Given the description of an element on the screen output the (x, y) to click on. 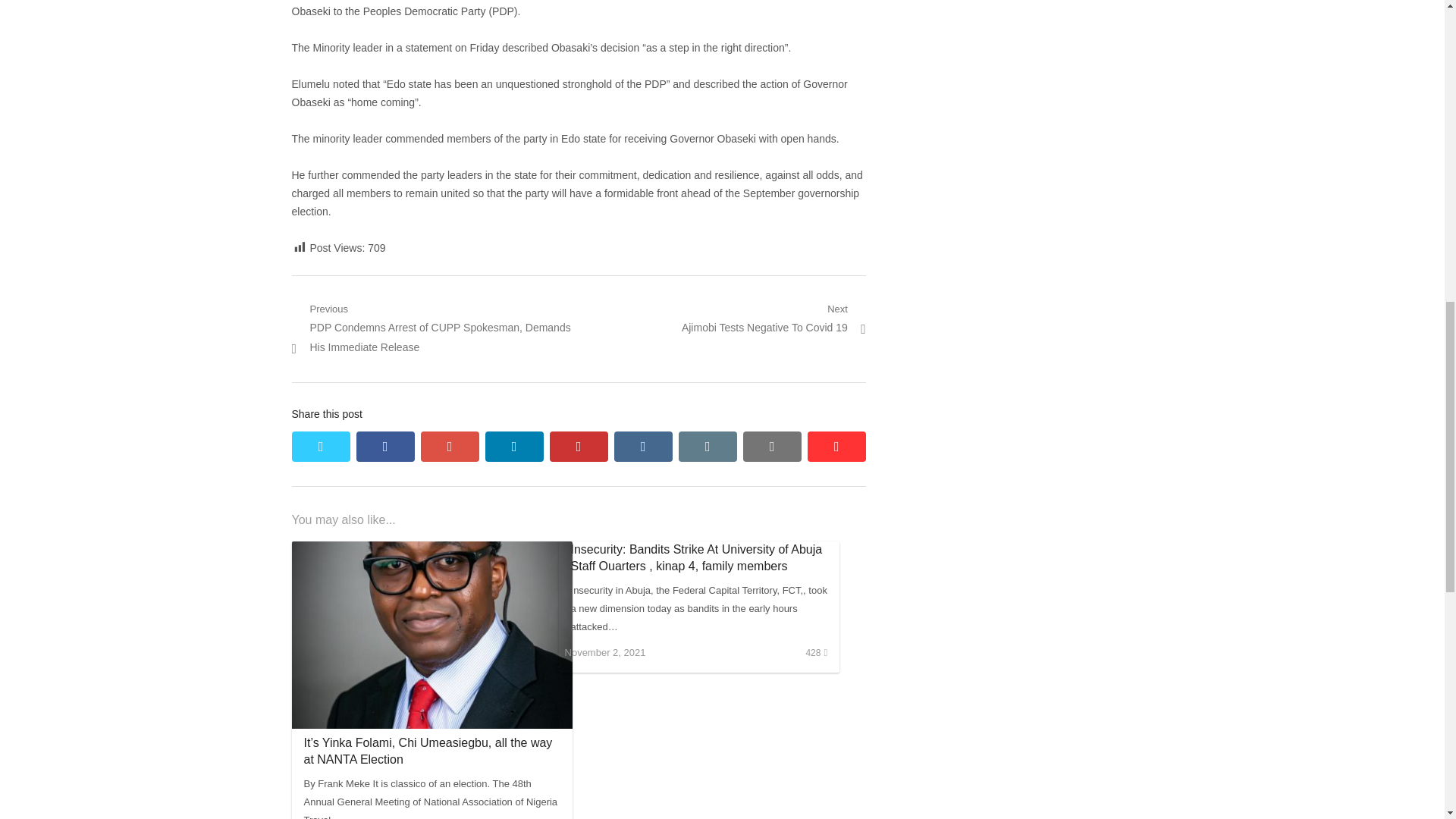
pinterest (579, 446)
email (707, 446)
twitter (320, 446)
linkedin (513, 446)
Share on twitter (320, 446)
Share on LinkedIn (513, 446)
facebook (385, 446)
print (773, 319)
Share on facebook (772, 446)
vkontakte (385, 446)
